Given the description of an element on the screen output the (x, y) to click on. 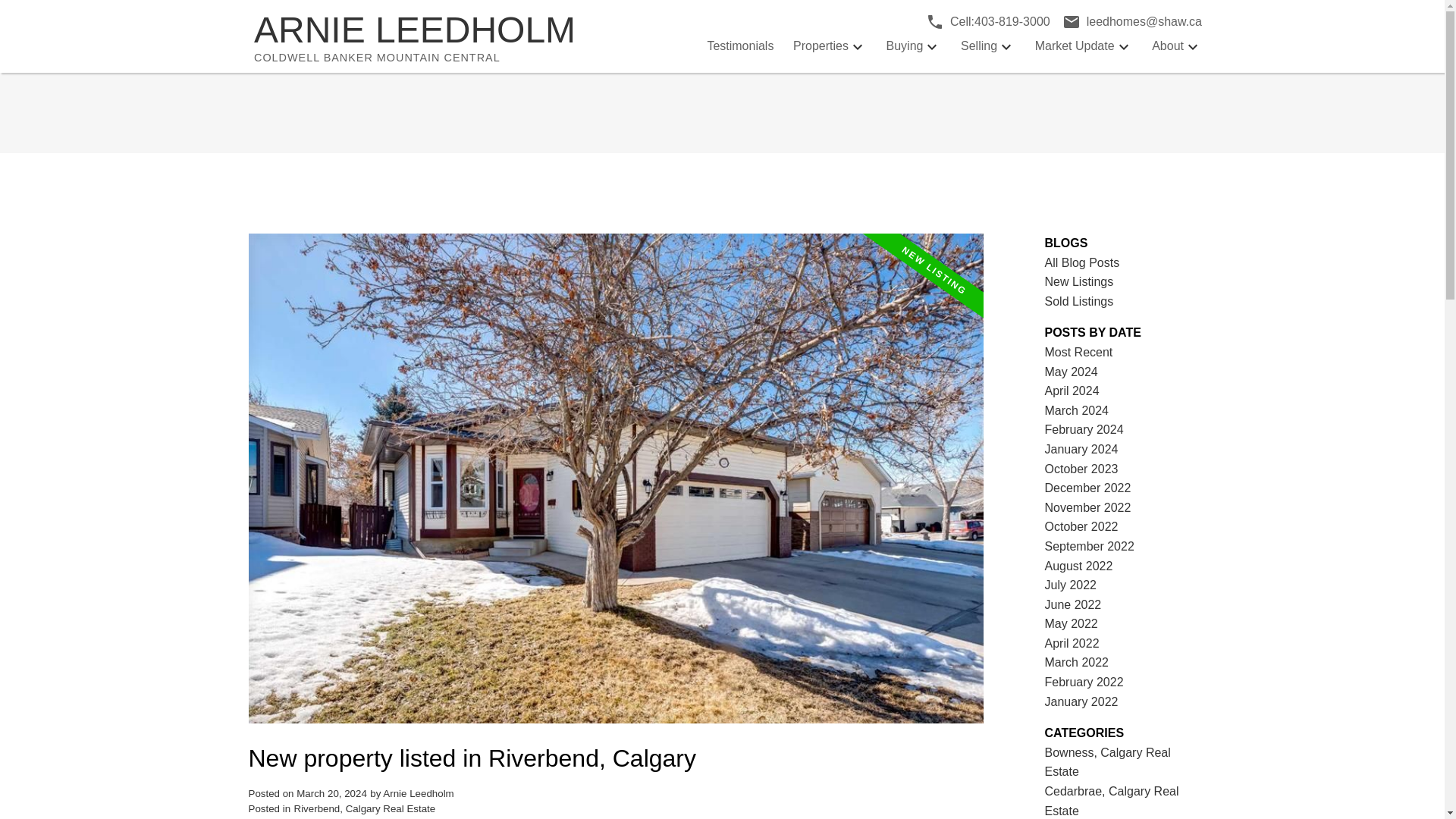
Testimonials (444, 35)
Riverbend, Calgary Real Estate (739, 46)
